Given the description of an element on the screen output the (x, y) to click on. 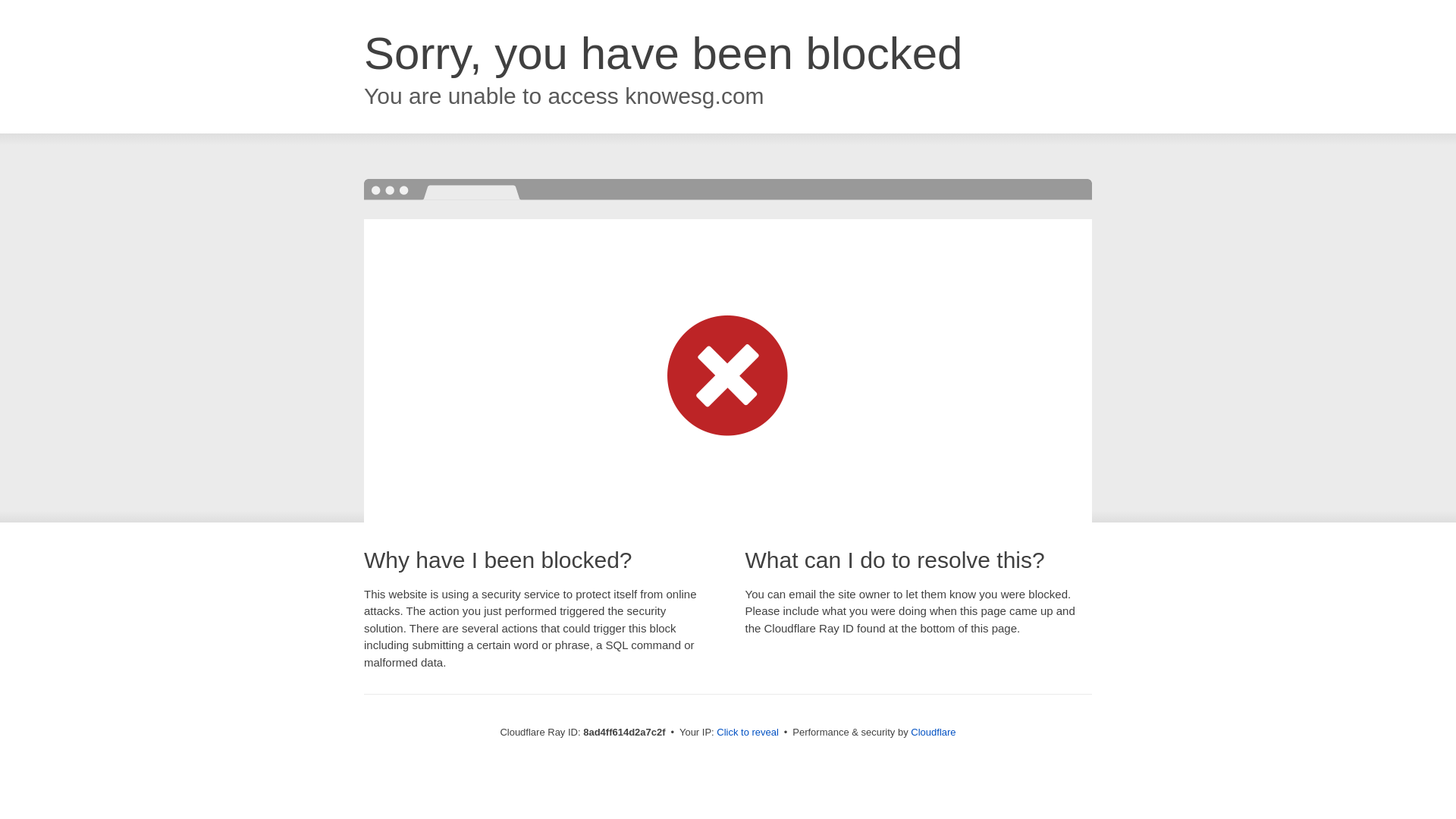
Click to reveal (747, 732)
Cloudflare (933, 731)
